Given the description of an element on the screen output the (x, y) to click on. 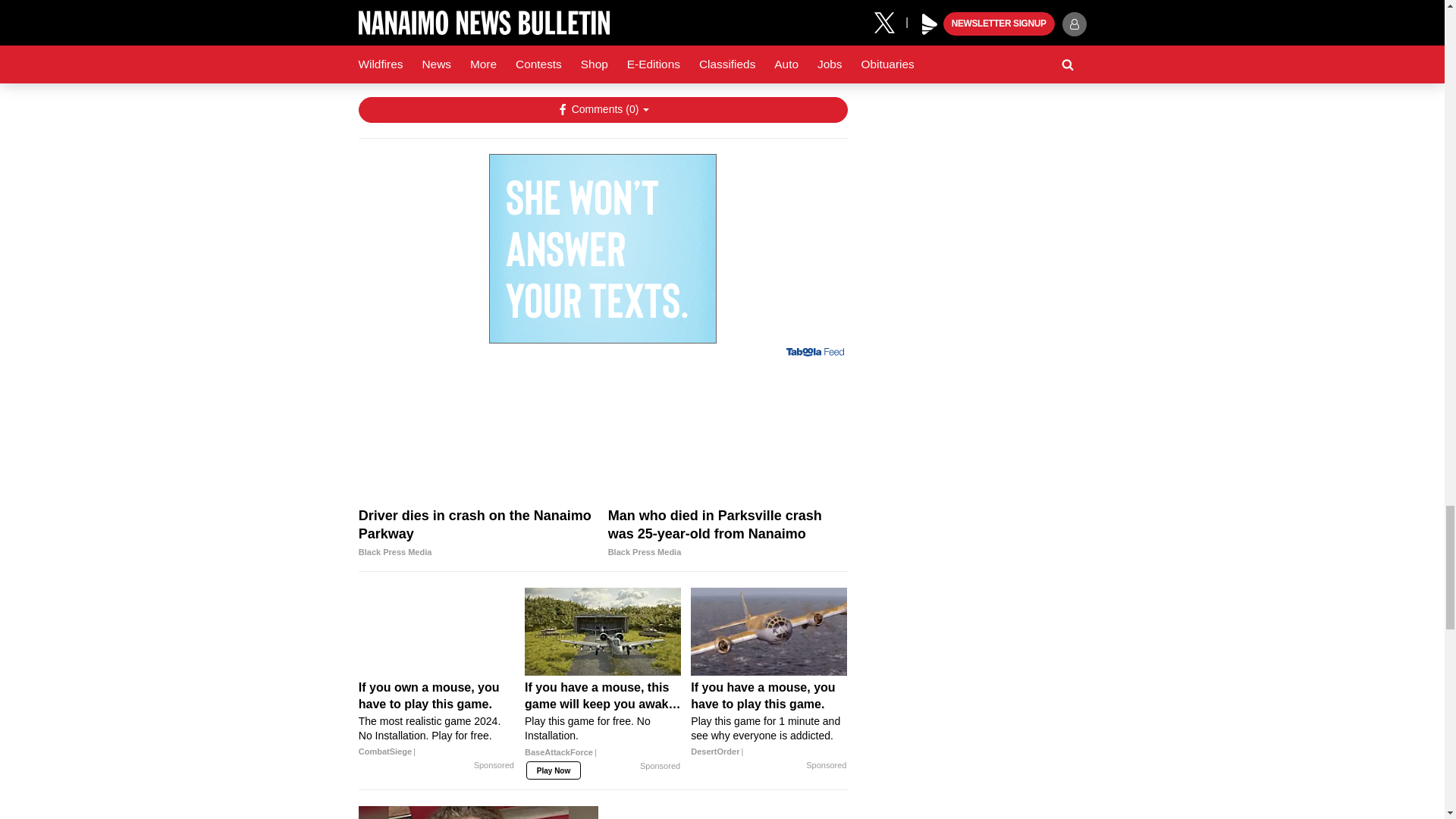
Show Comments (602, 109)
Driver dies in crash on the Nanaimo Parkway (478, 533)
If you own a mouse, you have to play this game. (436, 631)
3rd party ad content (602, 248)
Driver dies in crash on the Nanaimo Parkway (478, 435)
If you own a mouse, you have to play this game. (436, 719)
